Given the description of an element on the screen output the (x, y) to click on. 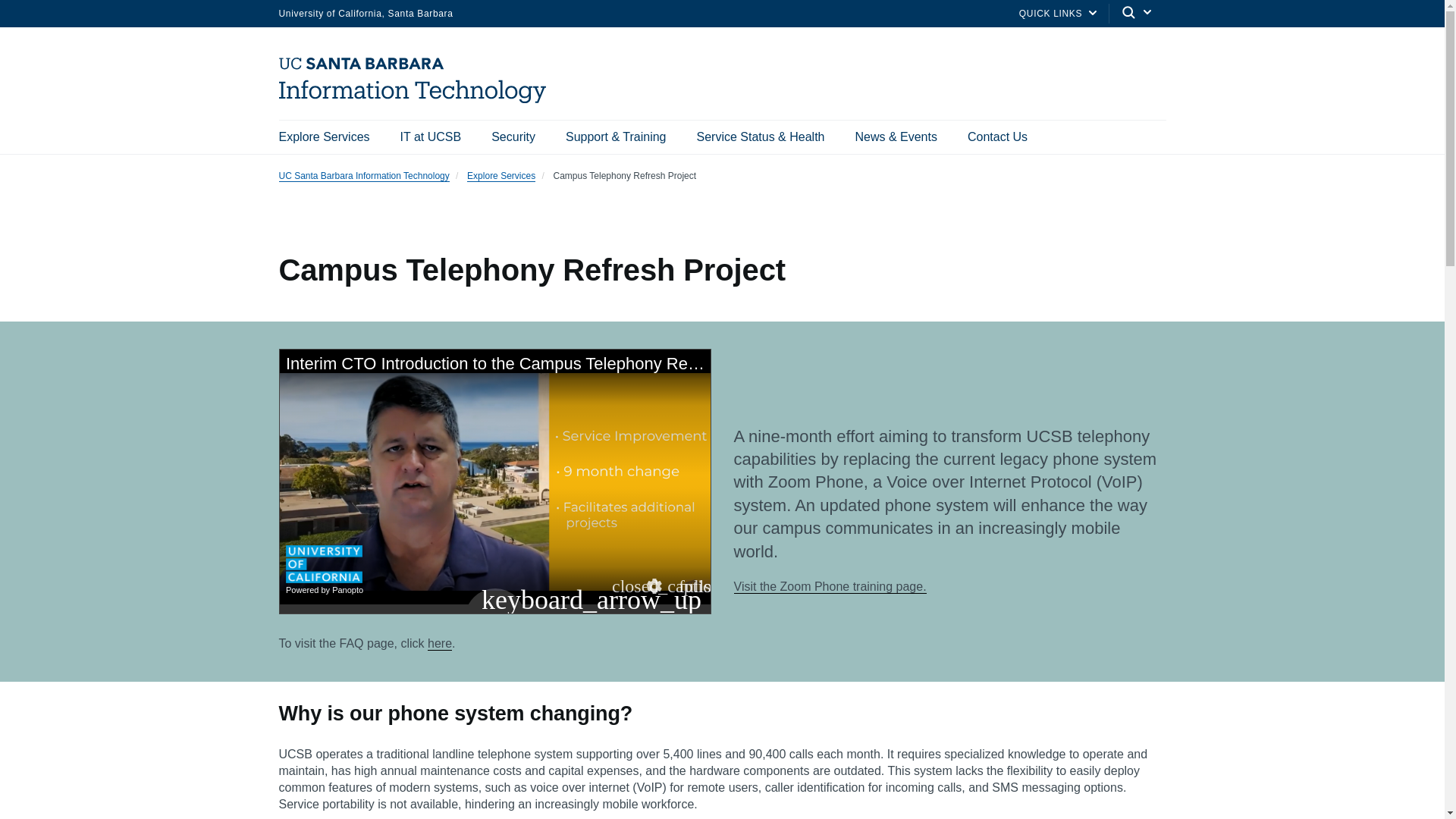
University of California, Santa Barbara (365, 12)
News and Announcements (895, 136)
IT at UCSB (430, 136)
QUICK LINKS (1050, 12)
Home (418, 98)
Security (513, 136)
Explore Services (324, 136)
Service Status and Health (759, 136)
